Given the description of an element on the screen output the (x, y) to click on. 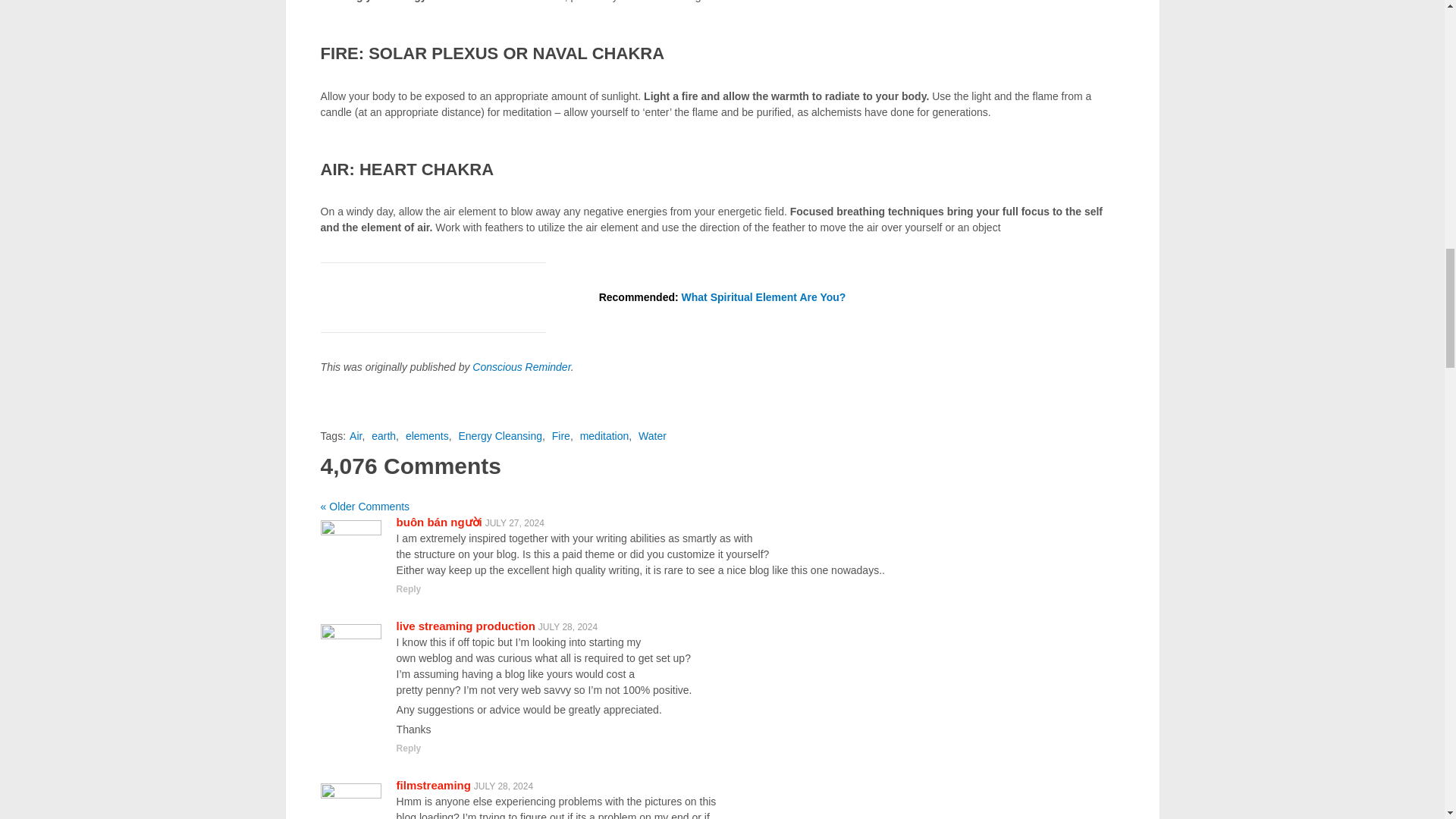
What Spiritual Element Are You? (763, 297)
elements (427, 435)
Air (355, 435)
earth (383, 435)
Conscious Reminder (520, 367)
